Given the description of an element on the screen output the (x, y) to click on. 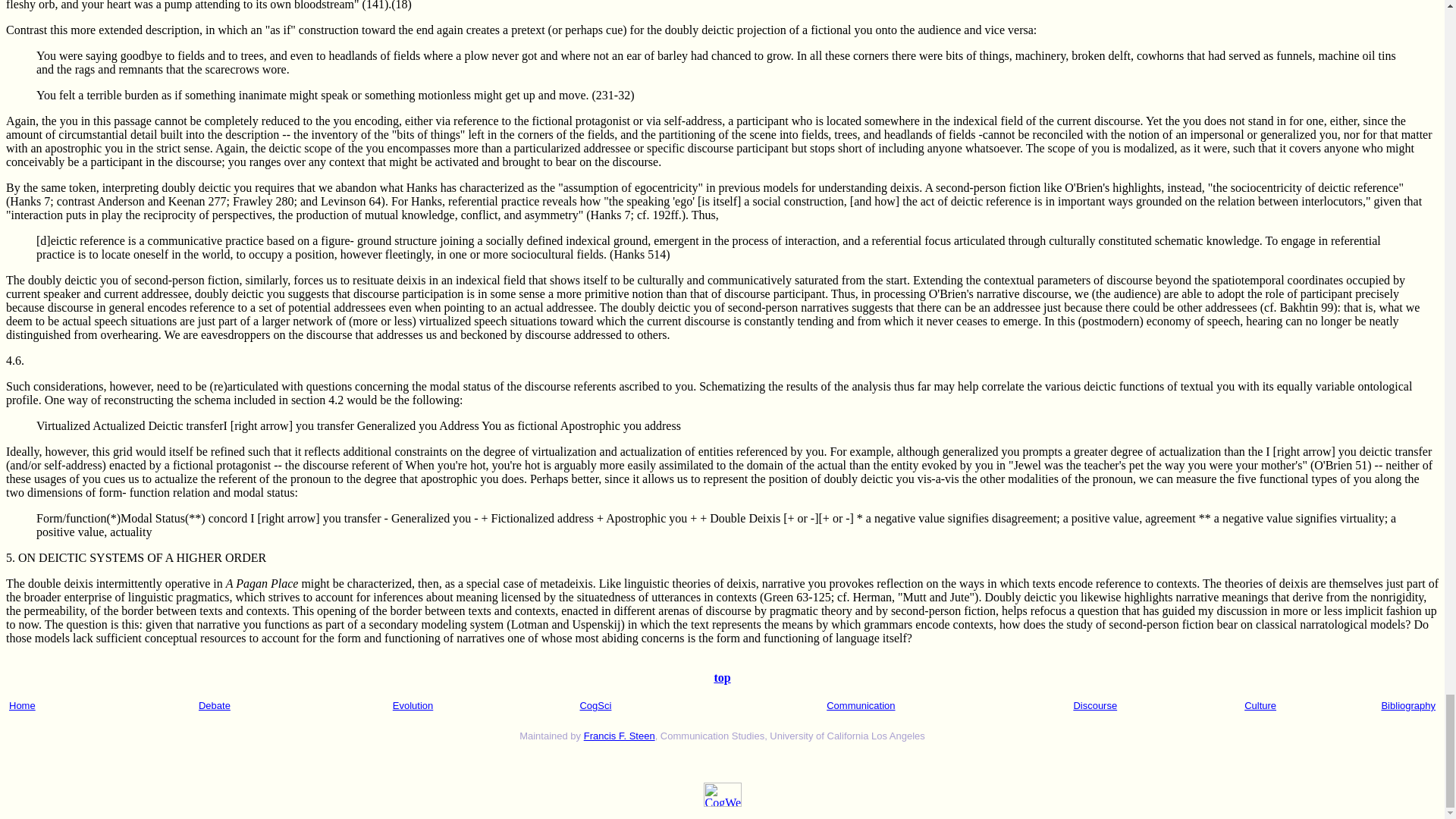
Bibliography (1407, 705)
Home (21, 705)
Communication (861, 705)
Evolution (412, 705)
Debate (214, 705)
Discourse (1094, 705)
Culture (1260, 705)
CogSci (595, 705)
Francis F. Steen (619, 736)
top (721, 676)
